Given the description of an element on the screen output the (x, y) to click on. 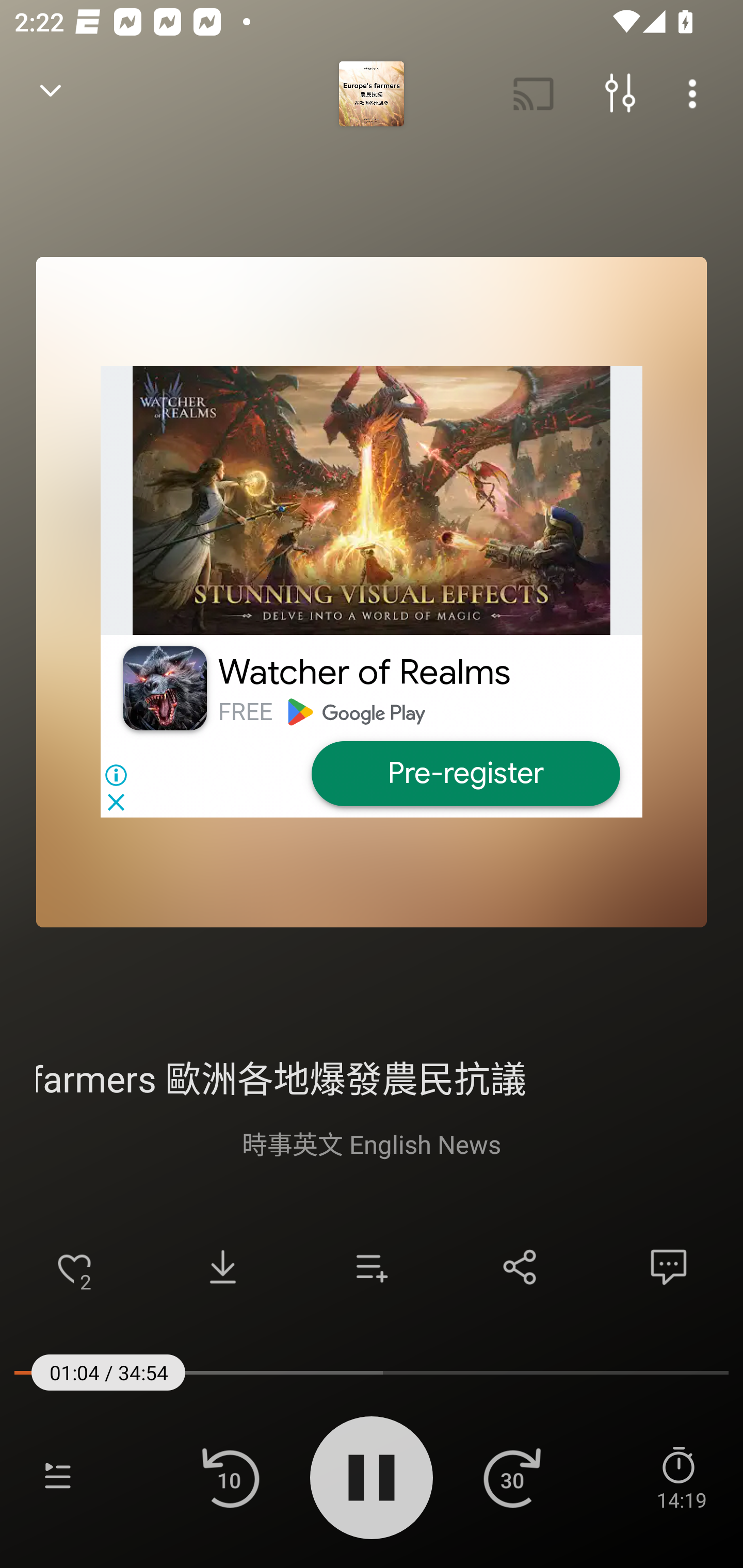
Cast. Disconnected (533, 93)
 Back (50, 94)
KeeTa 4.4 Install Install (371, 591)
Watcher of Realms (364, 672)
FREE (245, 711)
Pre-register (464, 773)
#181 🧑‍🌾 Europe's farmers 歐洲各地爆發農民抗議 (371, 1076)
時事英文 English News (371, 1142)
Comments (668, 1266)
Add to Favorites (73, 1266)
Share (519, 1266)
Sleep Timer  14:19 (681, 1477)
 Playlist (57, 1477)
